Given the description of an element on the screen output the (x, y) to click on. 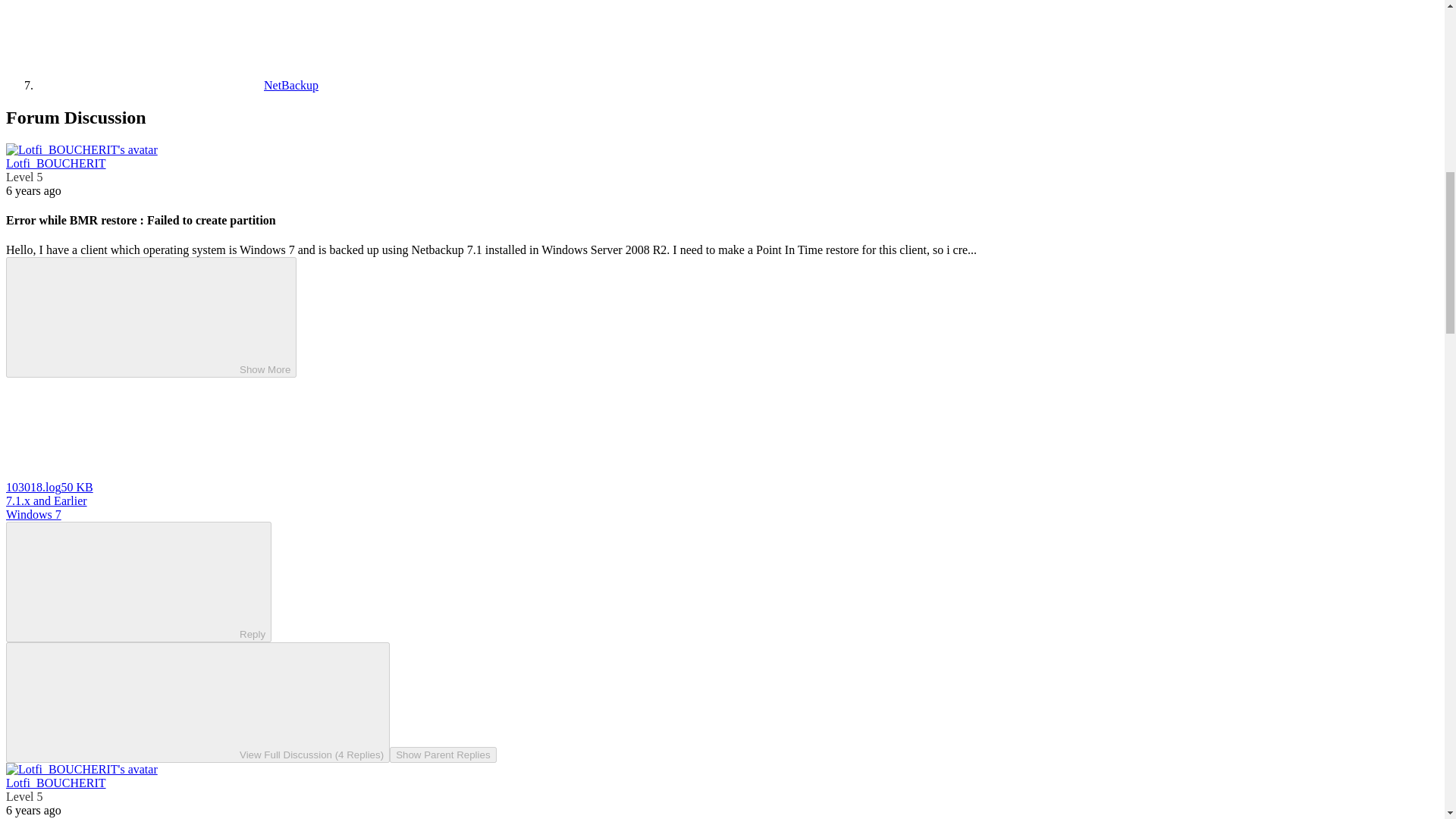
Show More (151, 317)
ReplyReply (137, 581)
October 30, 2018 at 1:06 PM (33, 190)
Show Parent Replies (443, 754)
103018.log50 KB (49, 486)
NetBackup (177, 84)
7.1.x and Earlier (46, 500)
October 30, 2018 at 1:08 PM (33, 809)
Windows 7 (33, 513)
Reply (125, 581)
